Given the description of an element on the screen output the (x, y) to click on. 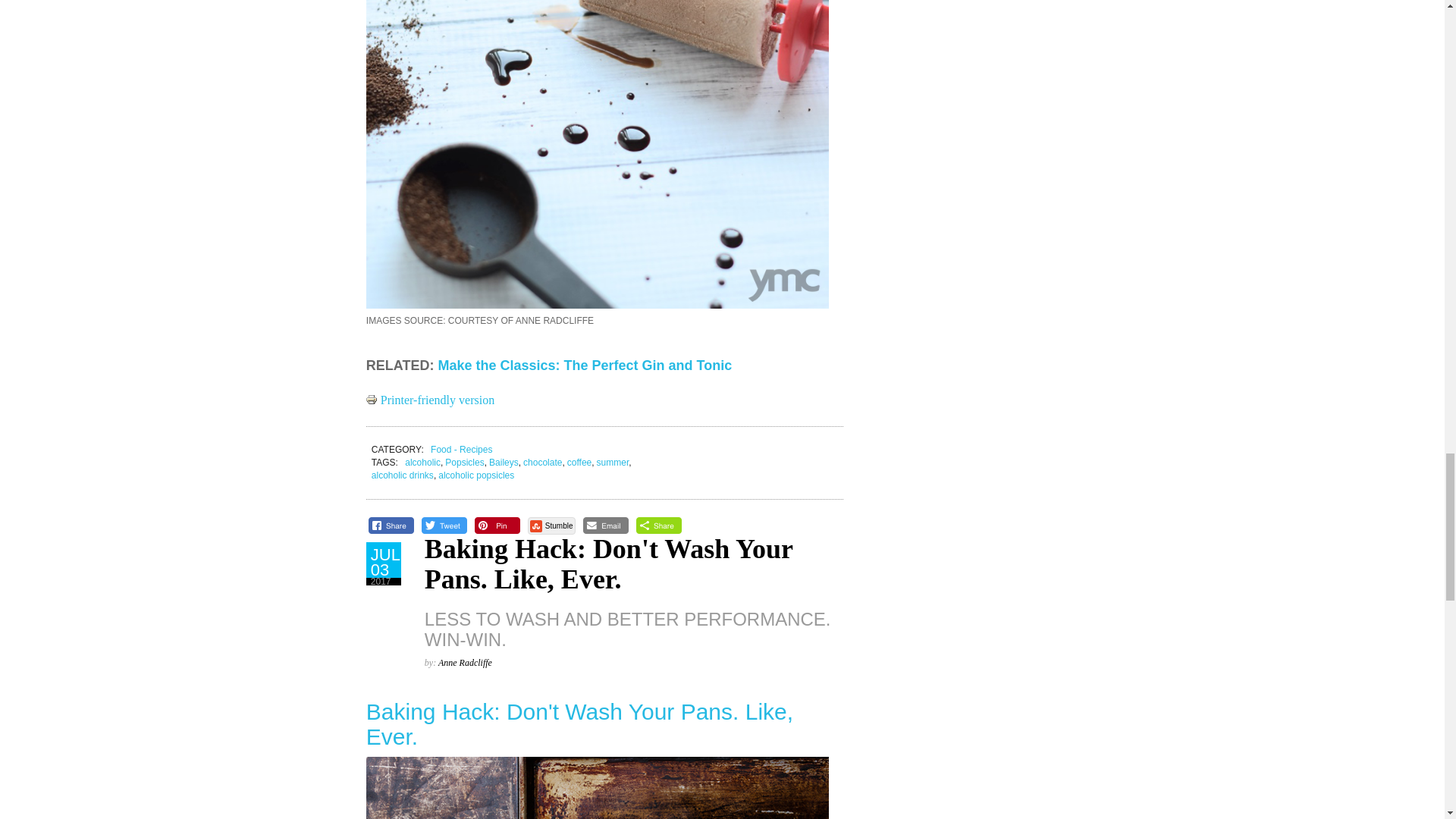
Display a printer-friendly version of this page. (430, 399)
